Given the description of an element on the screen output the (x, y) to click on. 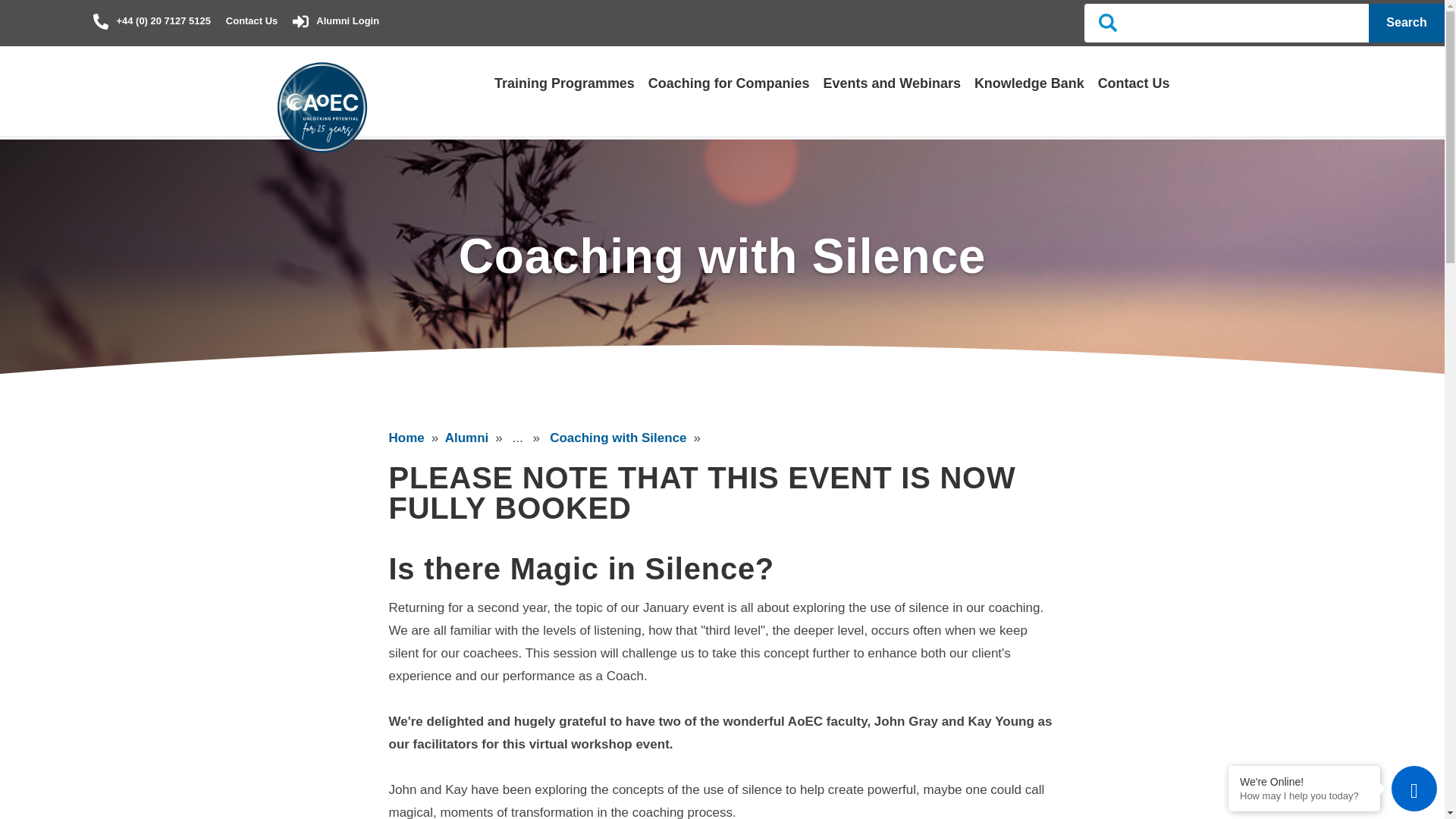
Training Programmes (564, 83)
Coaching for Companies (728, 83)
Call us (151, 20)
Alumni Login (335, 20)
Knowledge Bank (1029, 83)
Alumni (467, 437)
Events and Webinars (890, 83)
Contact Us (1133, 83)
Knowledge Bank (1029, 83)
Show more links (527, 437)
Coaching with Silence (617, 437)
Home (405, 437)
Contact Us (1133, 83)
Home (405, 437)
Contact us (251, 20)
